Given the description of an element on the screen output the (x, y) to click on. 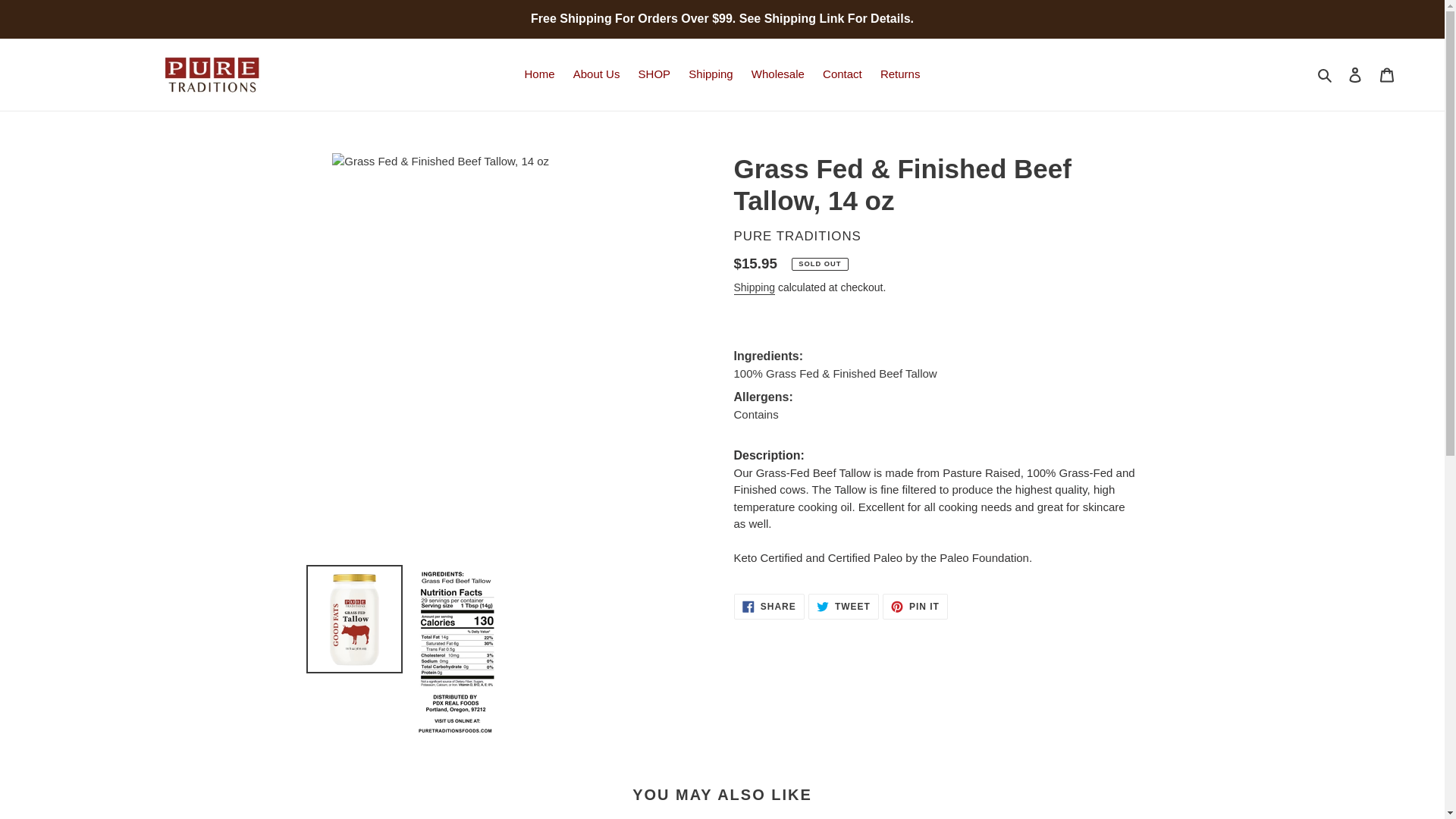
Cart (1387, 74)
Shipping (754, 287)
Search (1326, 74)
SHOP (654, 74)
Home (843, 606)
Contact (539, 74)
Log in (842, 74)
